Given the description of an element on the screen output the (x, y) to click on. 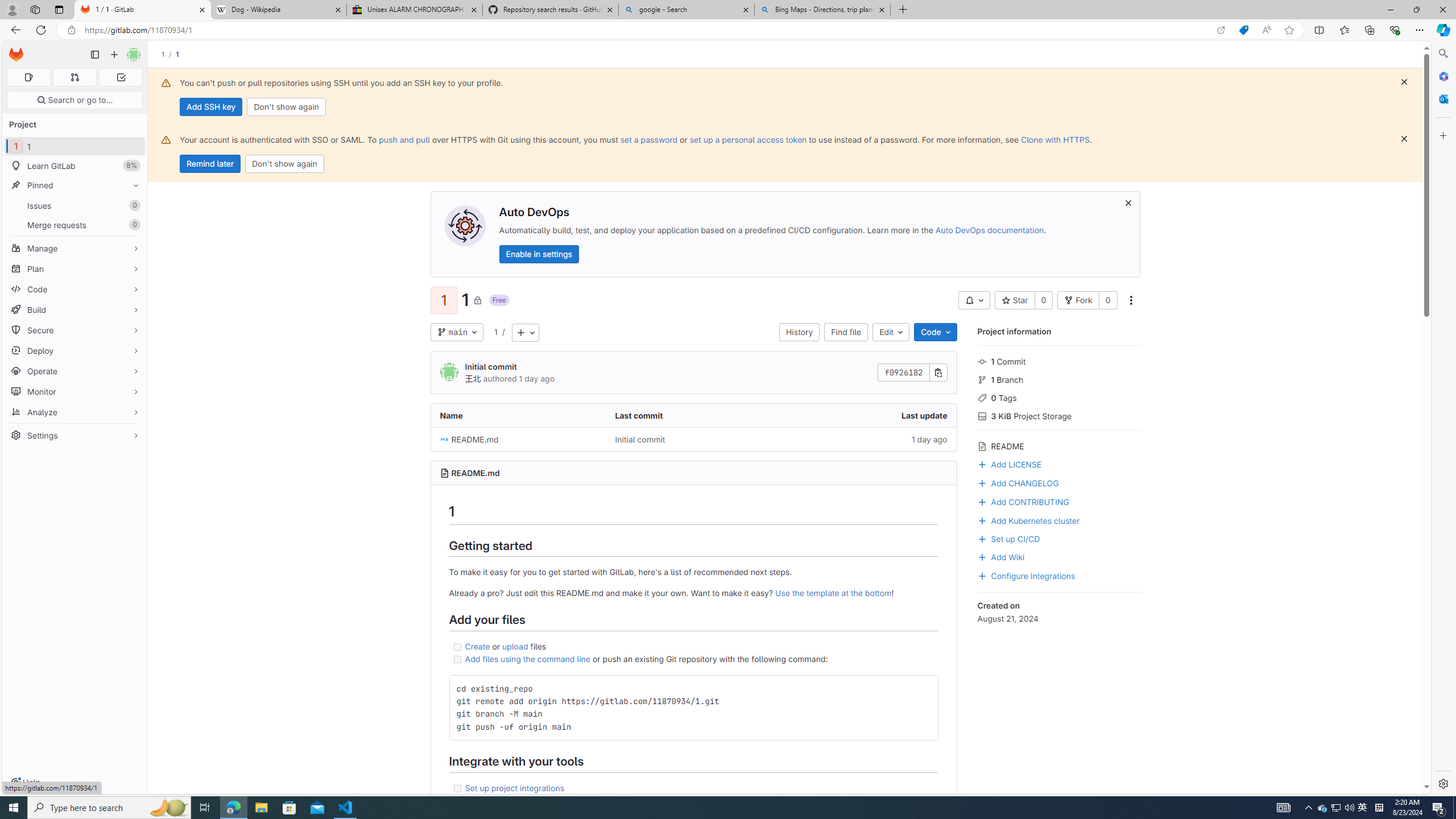
History (798, 331)
Operate (74, 370)
Plan (74, 268)
Add CHANGELOG (1058, 482)
Class: tree-item (693, 439)
Add CHANGELOG (1017, 482)
